Given the description of an element on the screen output the (x, y) to click on. 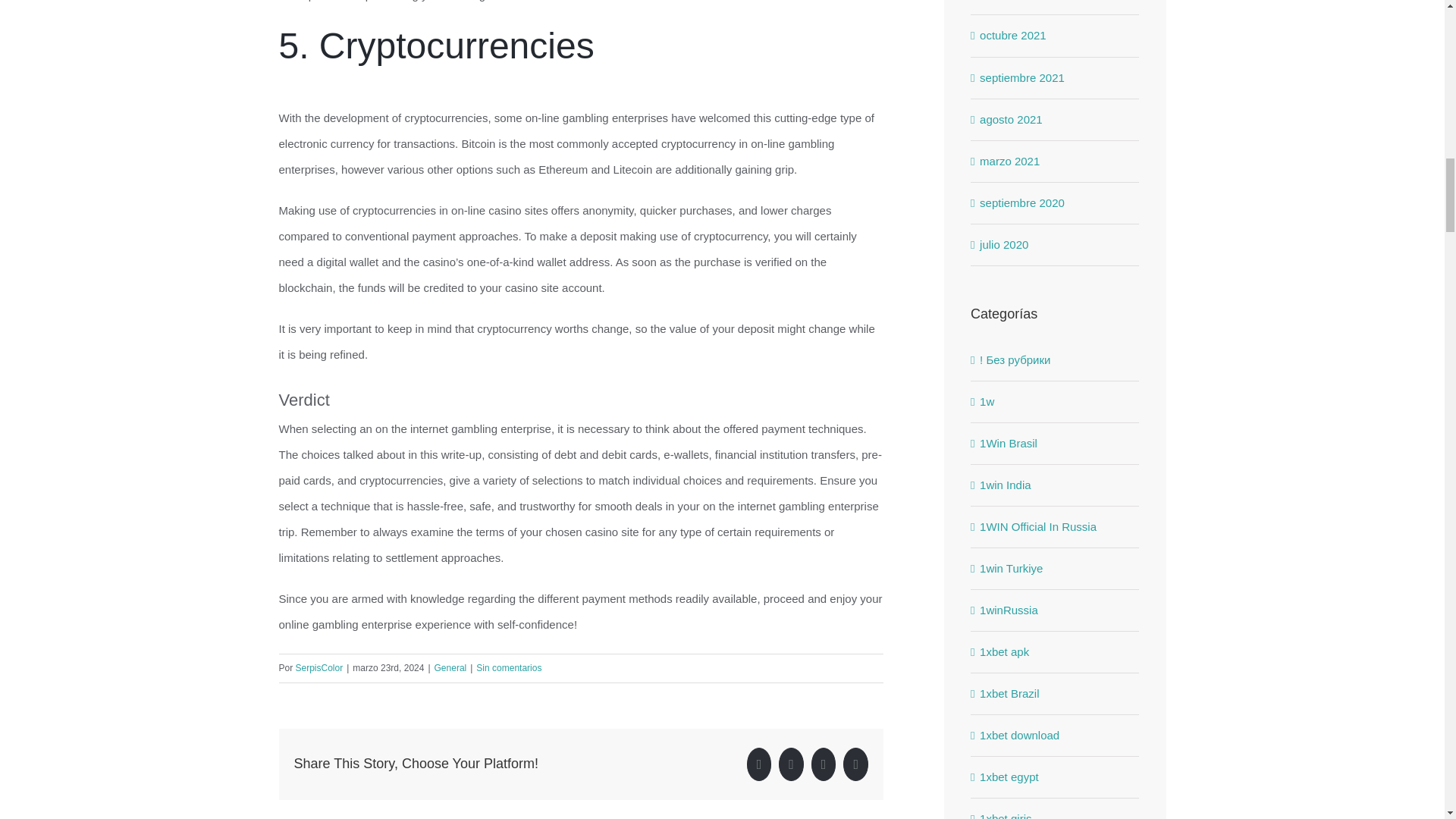
Sin comentarios (508, 667)
SerpisColor (319, 667)
Entradas de SerpisColor (319, 667)
General (450, 667)
